Given the description of an element on the screen output the (x, y) to click on. 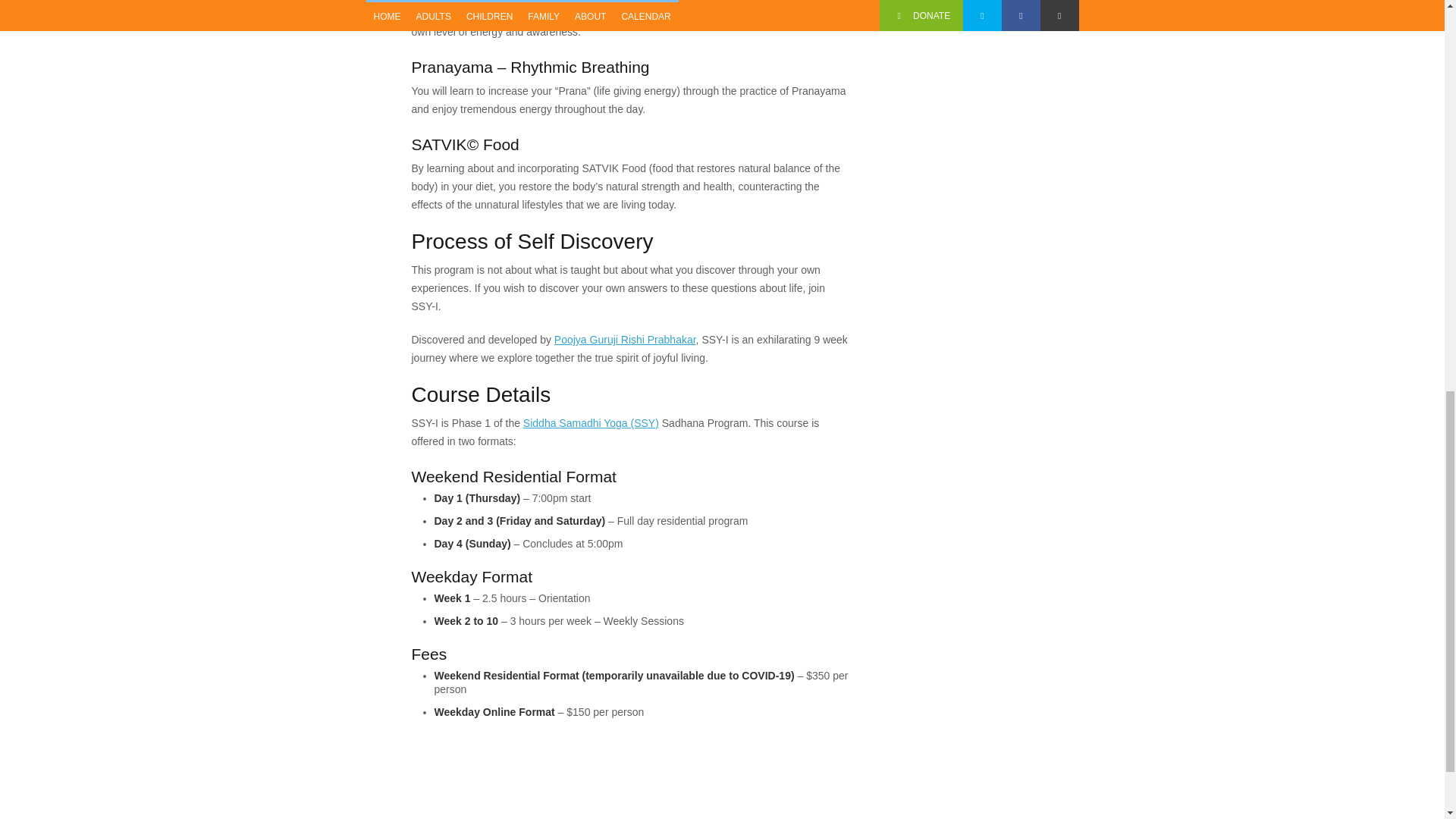
Poojya Guruji Sri Rishi Prabhakar (624, 339)
Poojya Guruji Rishi Prabhakar (624, 339)
